Given the description of an element on the screen output the (x, y) to click on. 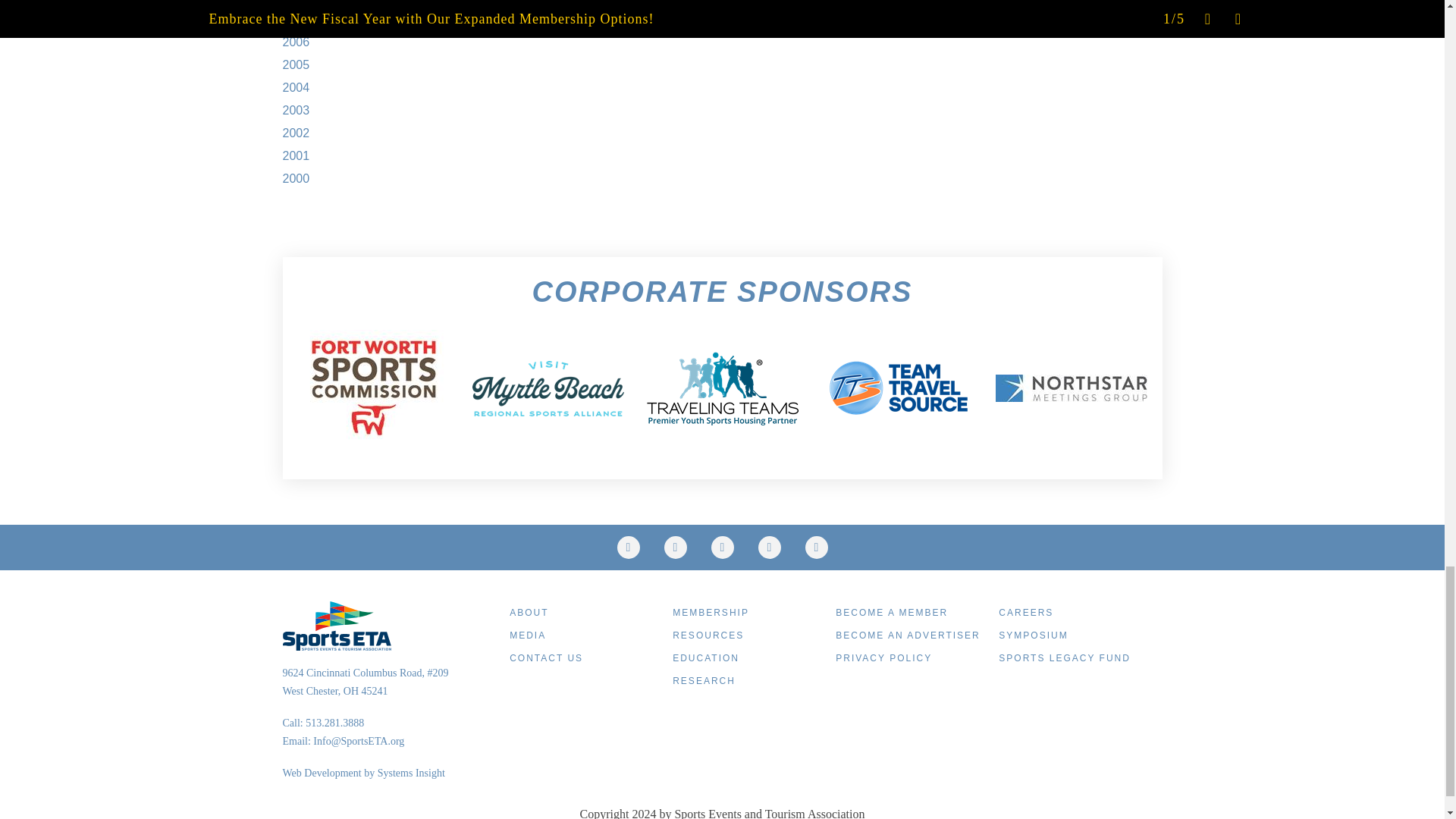
Facebook (675, 547)
YouTube (816, 547)
Instagram (722, 547)
LinkedIn (769, 547)
Twitter (628, 547)
